Given the description of an element on the screen output the (x, y) to click on. 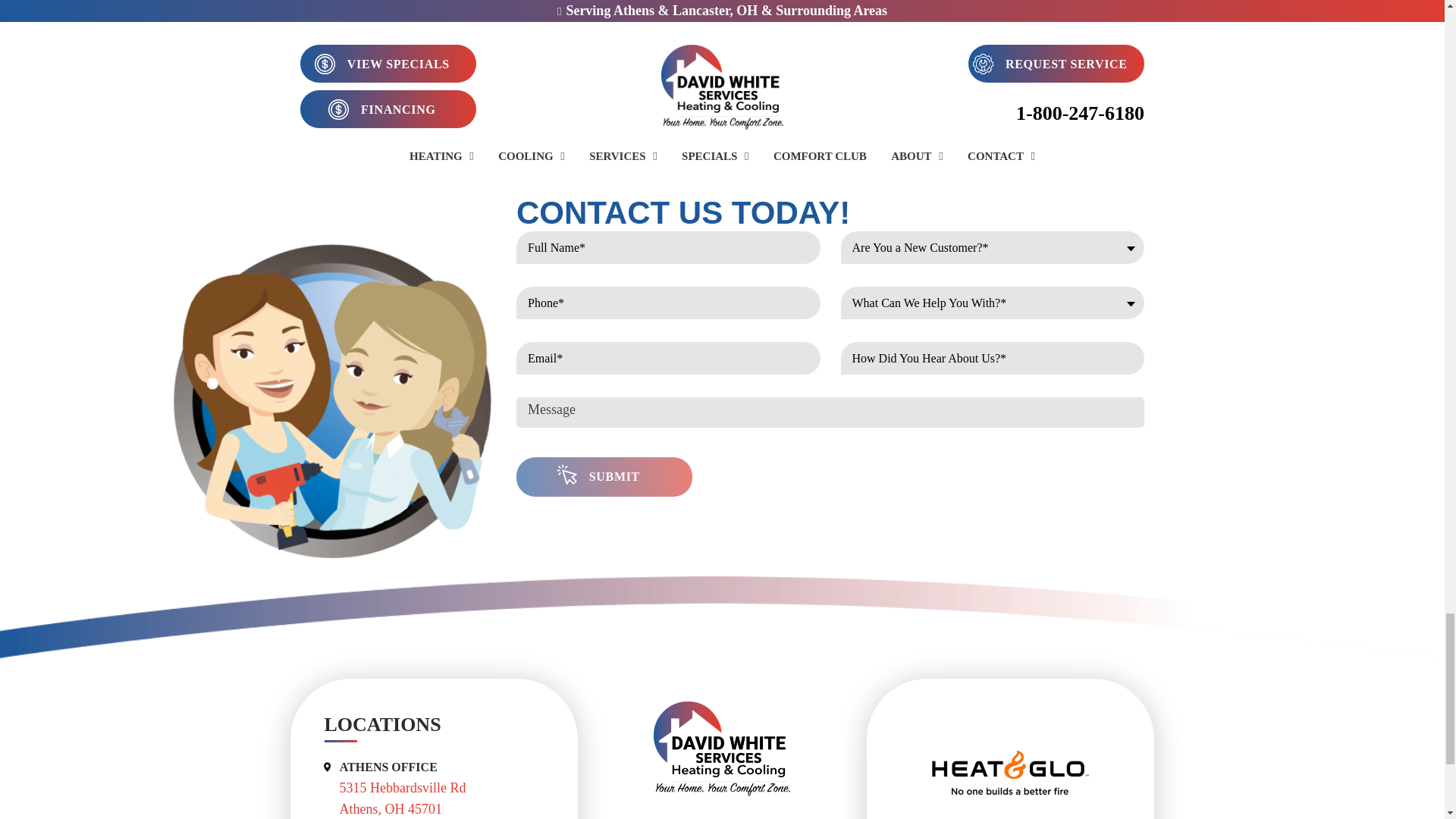
David White Services (721, 747)
